Given the description of an element on the screen output the (x, y) to click on. 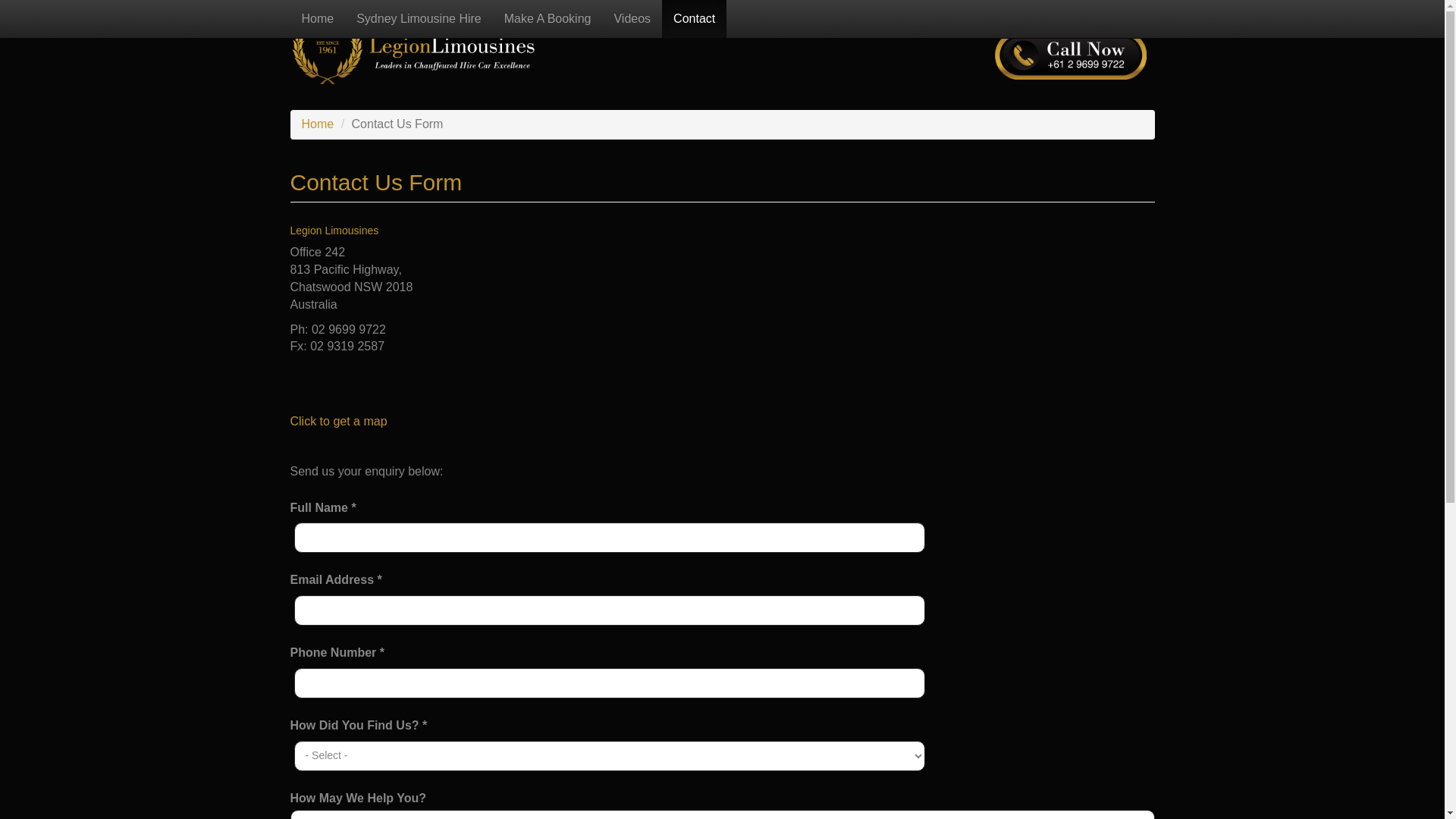
Sydney Limousine Hire Element type: text (418, 18)
Click to get a map Element type: text (337, 420)
Home Element type: text (317, 123)
Videos Element type: text (632, 18)
Home Element type: text (317, 18)
Make A Booking Element type: text (547, 18)
Skip to main content Element type: text (54, 0)
Contact Element type: text (694, 18)
